Given the description of an element on the screen output the (x, y) to click on. 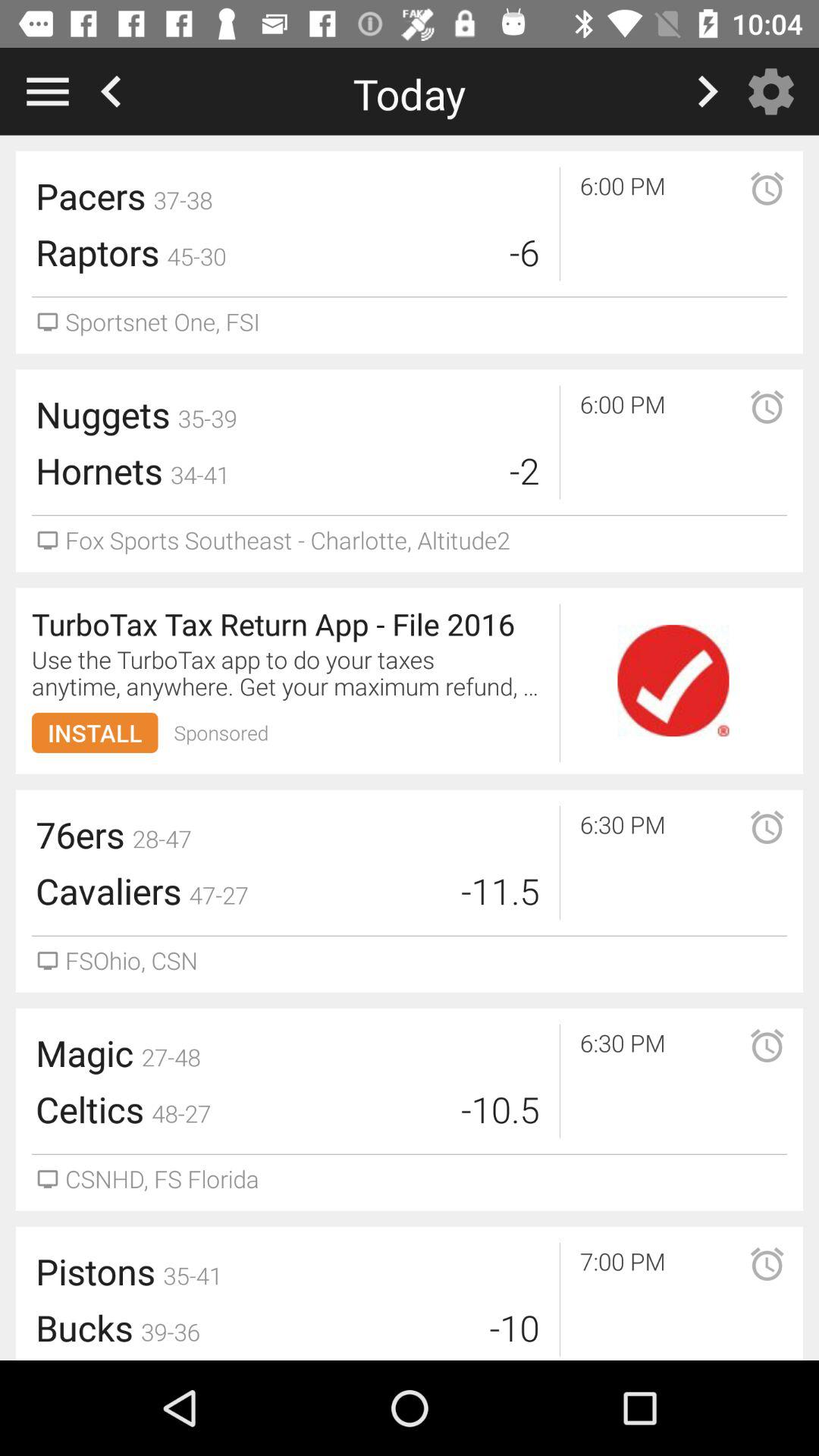
open sponsored application (673, 680)
